Given the description of an element on the screen output the (x, y) to click on. 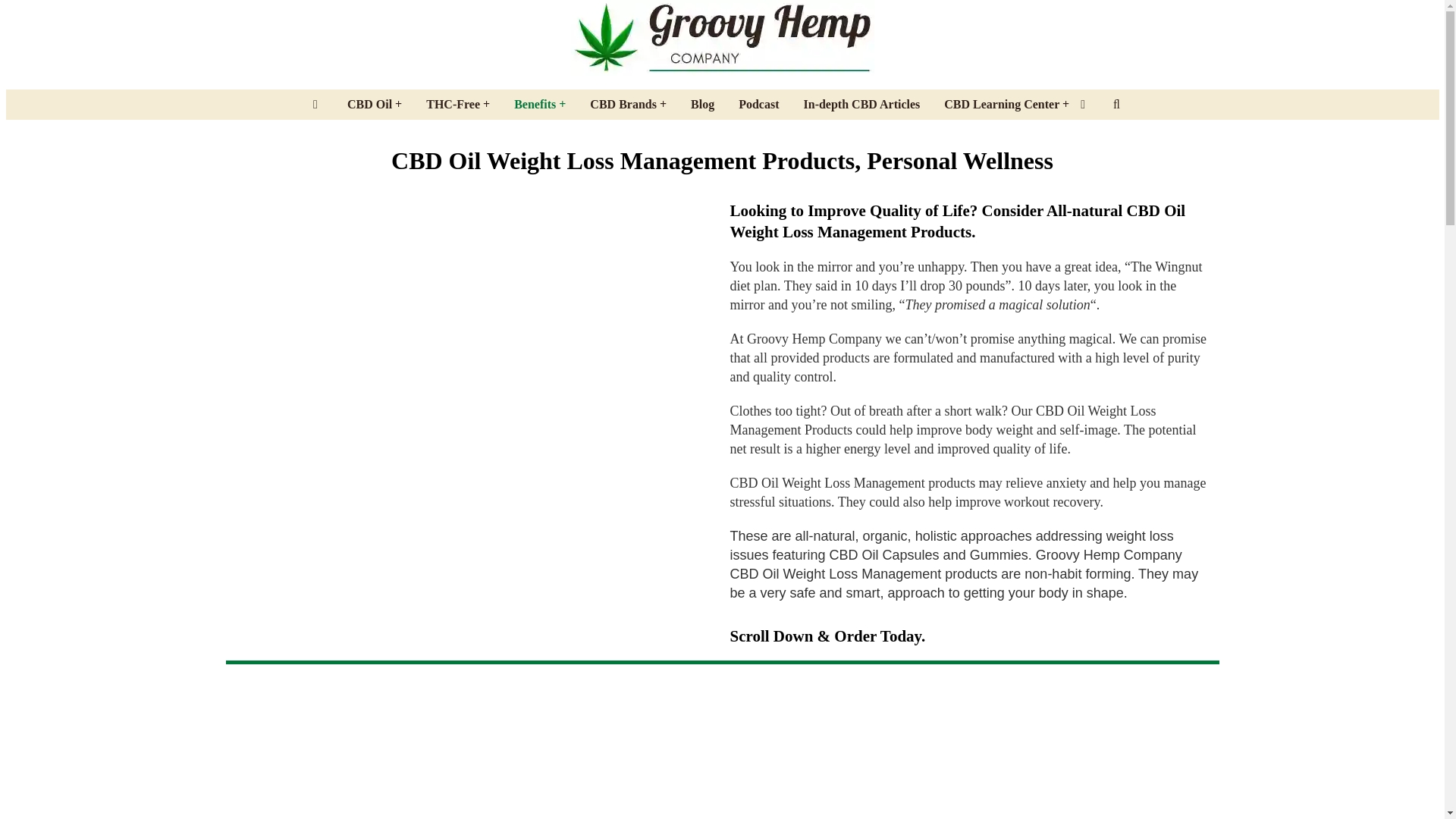
Groovy-Hemp-Company-New-Logo-Final-Complete-No-BG-7i-400px (721, 38)
